Given the description of an element on the screen output the (x, y) to click on. 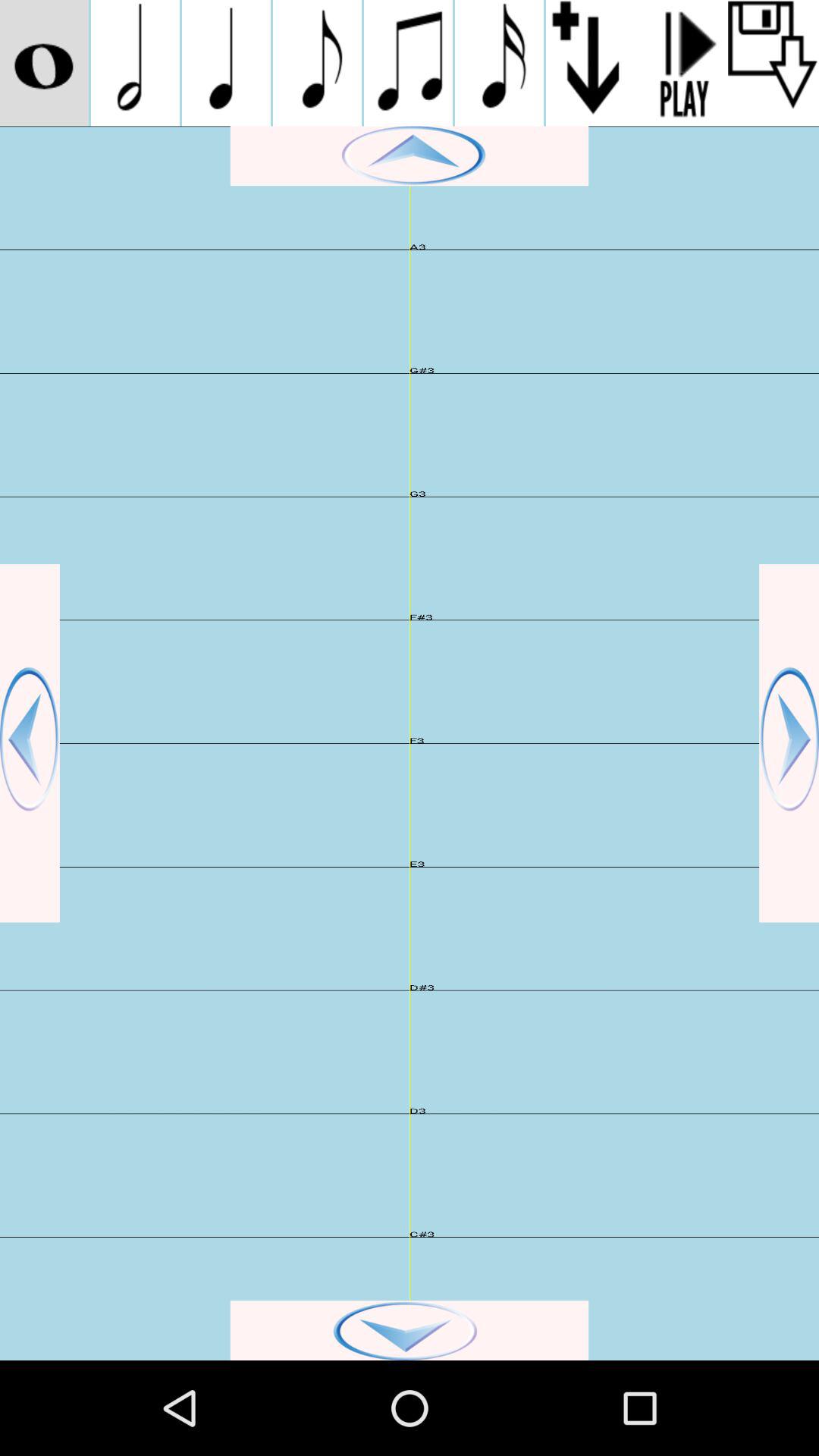
other (44, 63)
